Given the description of an element on the screen output the (x, y) to click on. 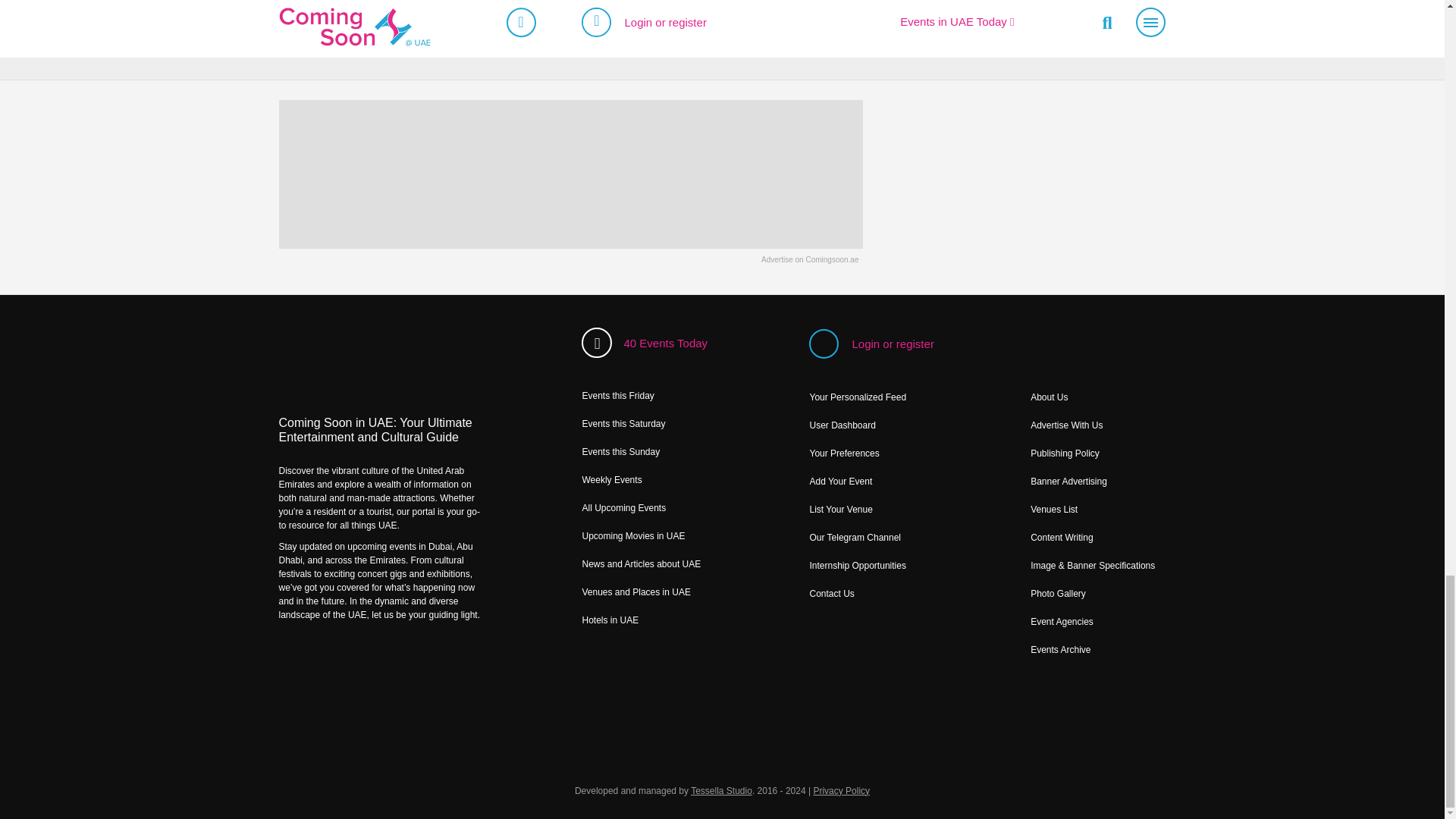
Tessella Studio (721, 790)
